Given the description of an element on the screen output the (x, y) to click on. 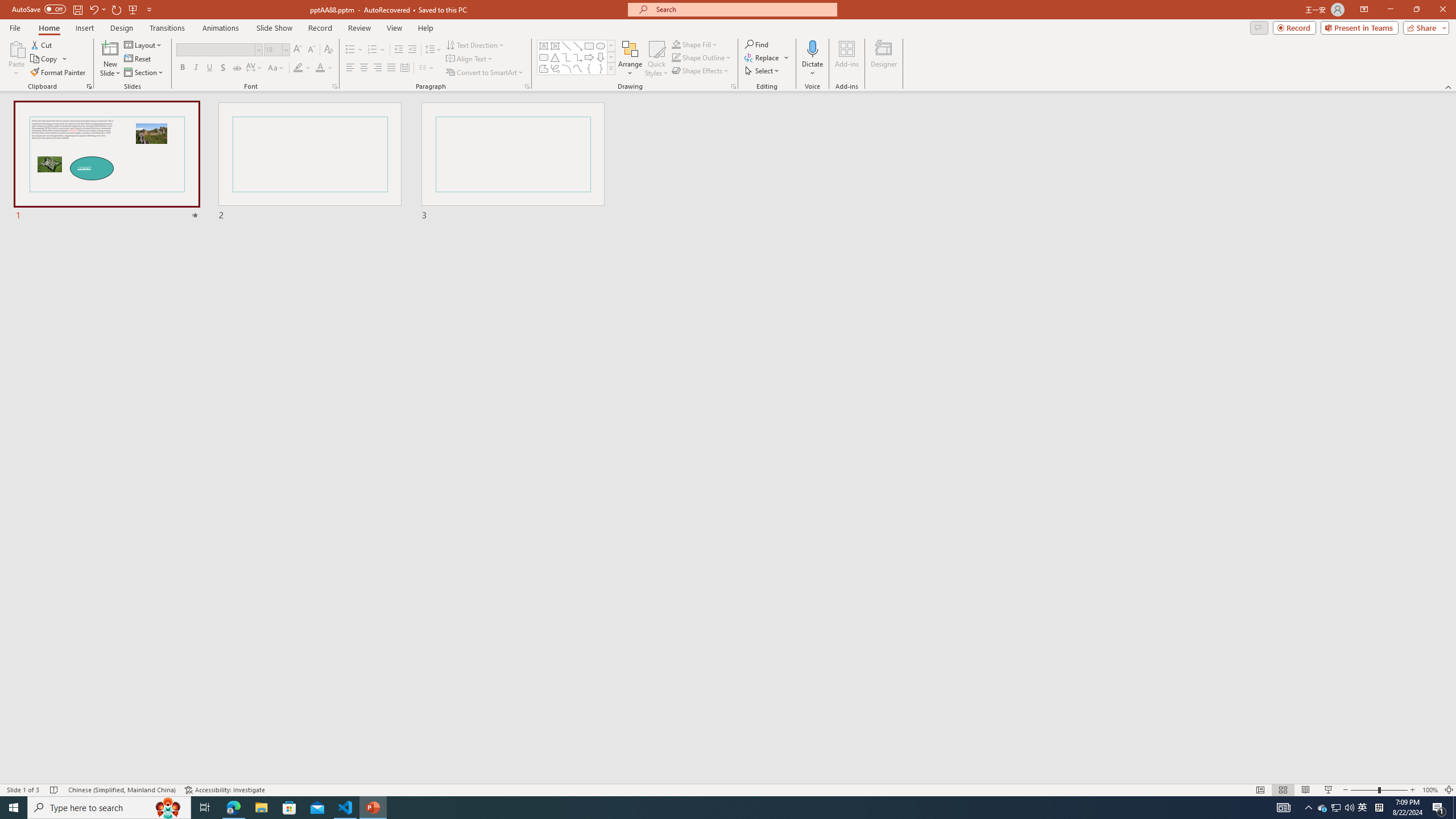
Shape Fill Aqua, Accent 2 (675, 44)
